Given the description of an element on the screen output the (x, y) to click on. 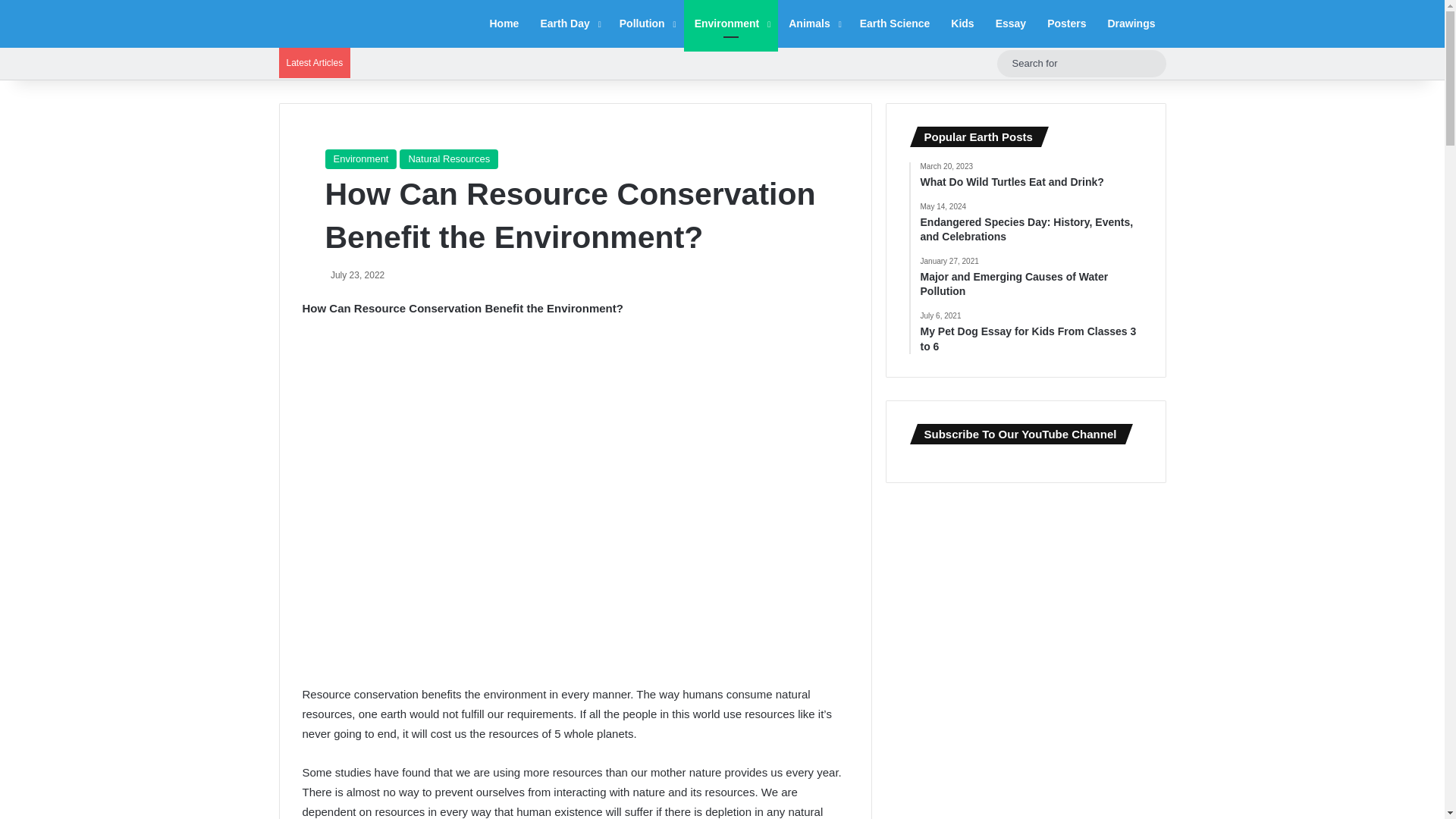
Kids (962, 23)
Pollution (646, 23)
Environment (731, 23)
Animals (812, 23)
Essay (1010, 23)
Earth Day (568, 23)
Earth Science (894, 23)
Drawings (1131, 23)
Home (504, 23)
Natural Resources (447, 158)
